Given the description of an element on the screen output the (x, y) to click on. 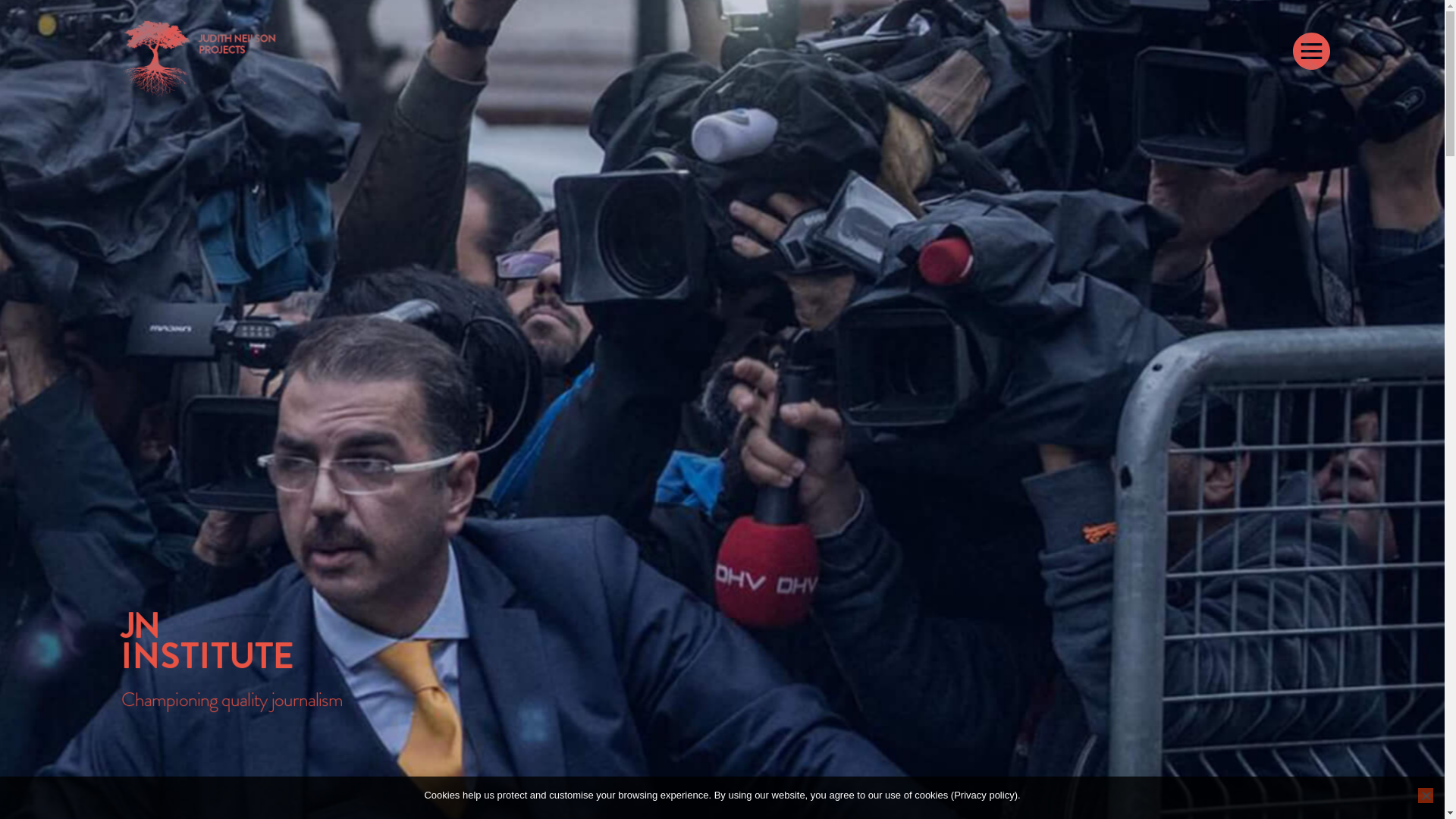
No Element type: hover (1425, 795)
Privacy policy Element type: text (983, 794)
Judith Neilson Projects Element type: hover (200, 59)
